Given the description of an element on the screen output the (x, y) to click on. 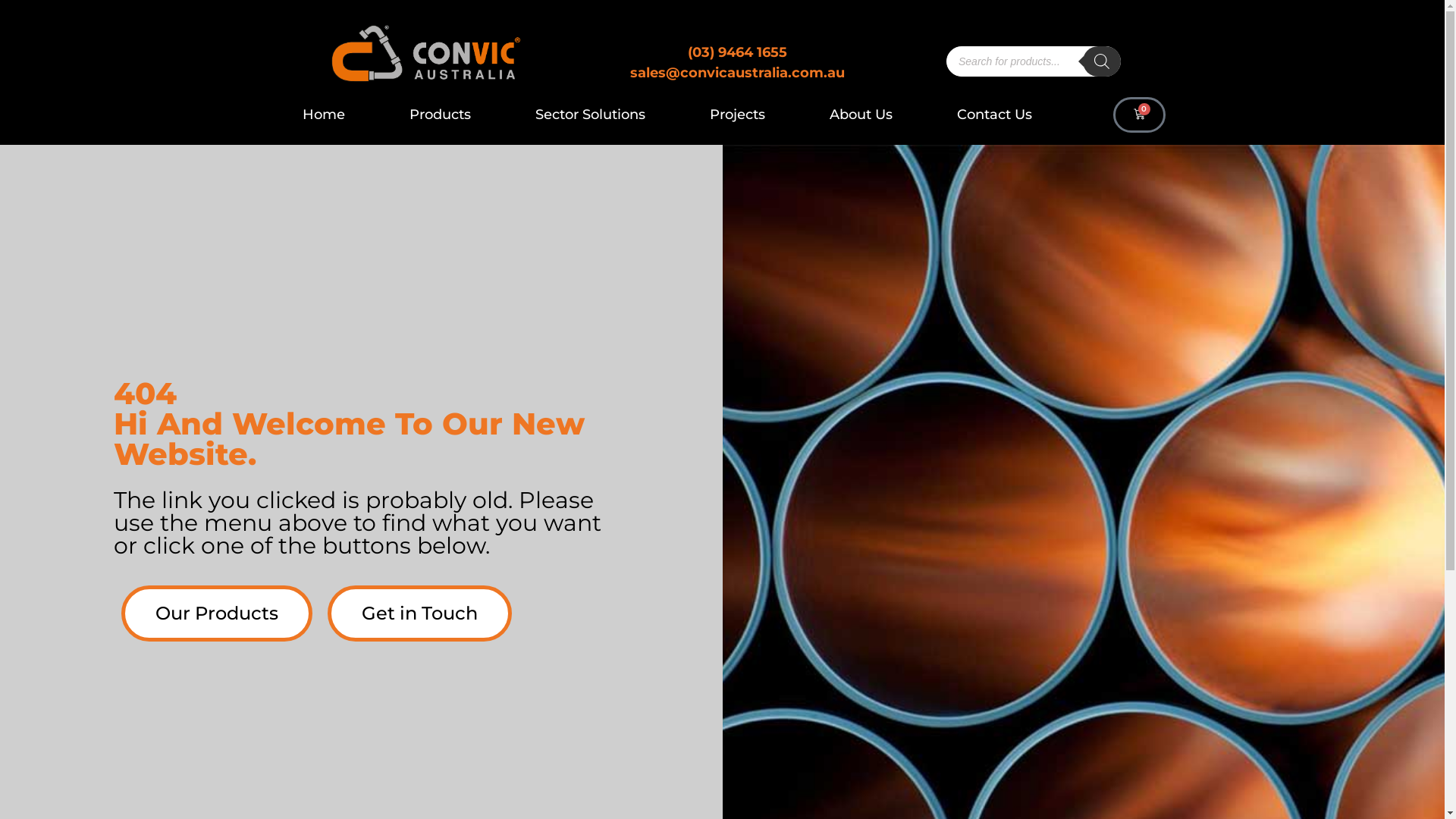
Projects Element type: text (737, 114)
Sector Solutions Element type: text (590, 114)
sales@convicaustralia.com.au Element type: text (736, 72)
(03) 9464 1655 Element type: text (736, 51)
Home Element type: text (323, 114)
Our Products Element type: text (216, 613)
Contact Us Element type: text (994, 114)
About Us Element type: text (860, 114)
0 Element type: text (1139, 114)
Get in Touch Element type: text (419, 613)
Products Element type: text (439, 114)
